Given the description of an element on the screen output the (x, y) to click on. 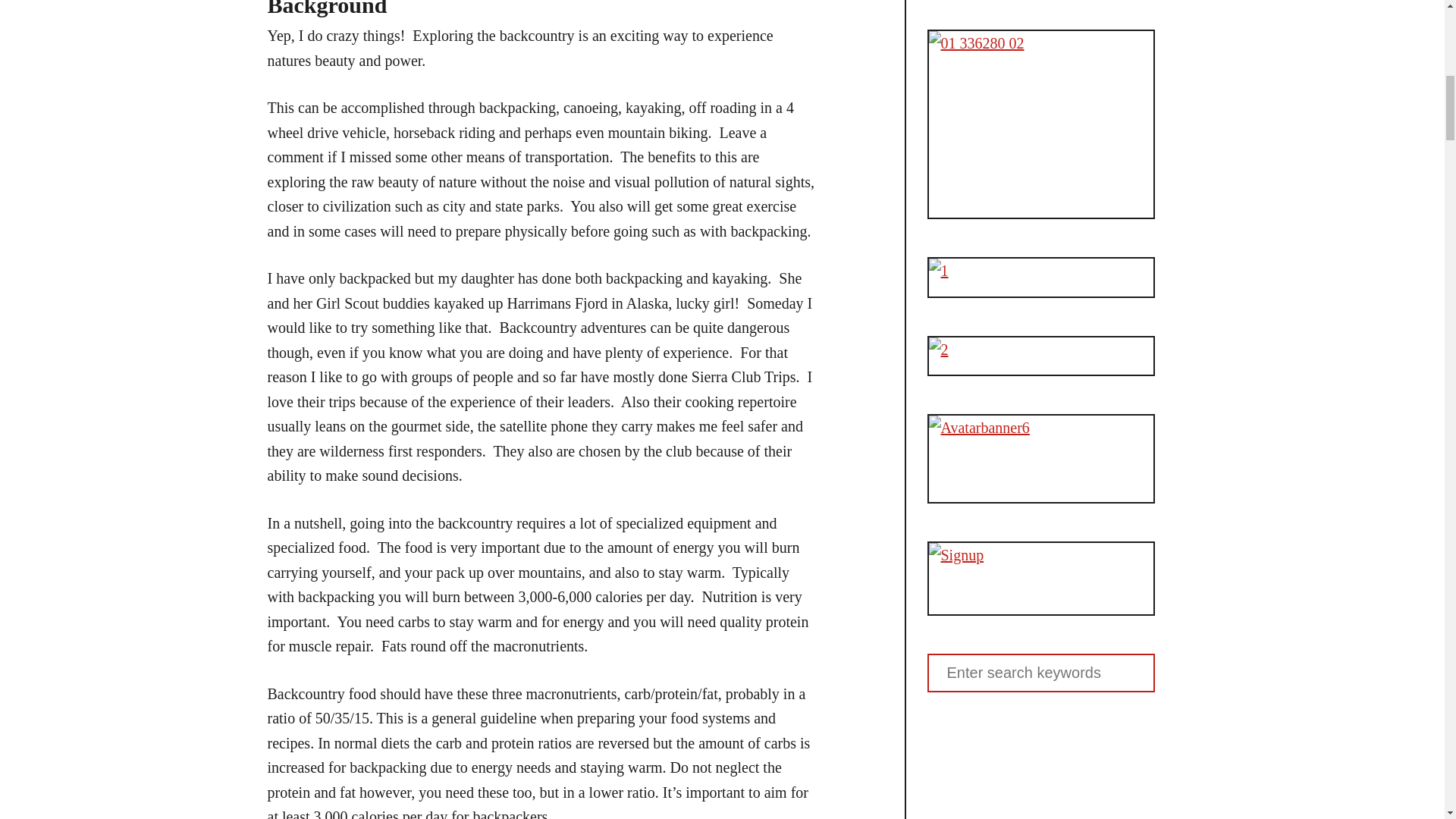
Search for: (1040, 672)
